Given the description of an element on the screen output the (x, y) to click on. 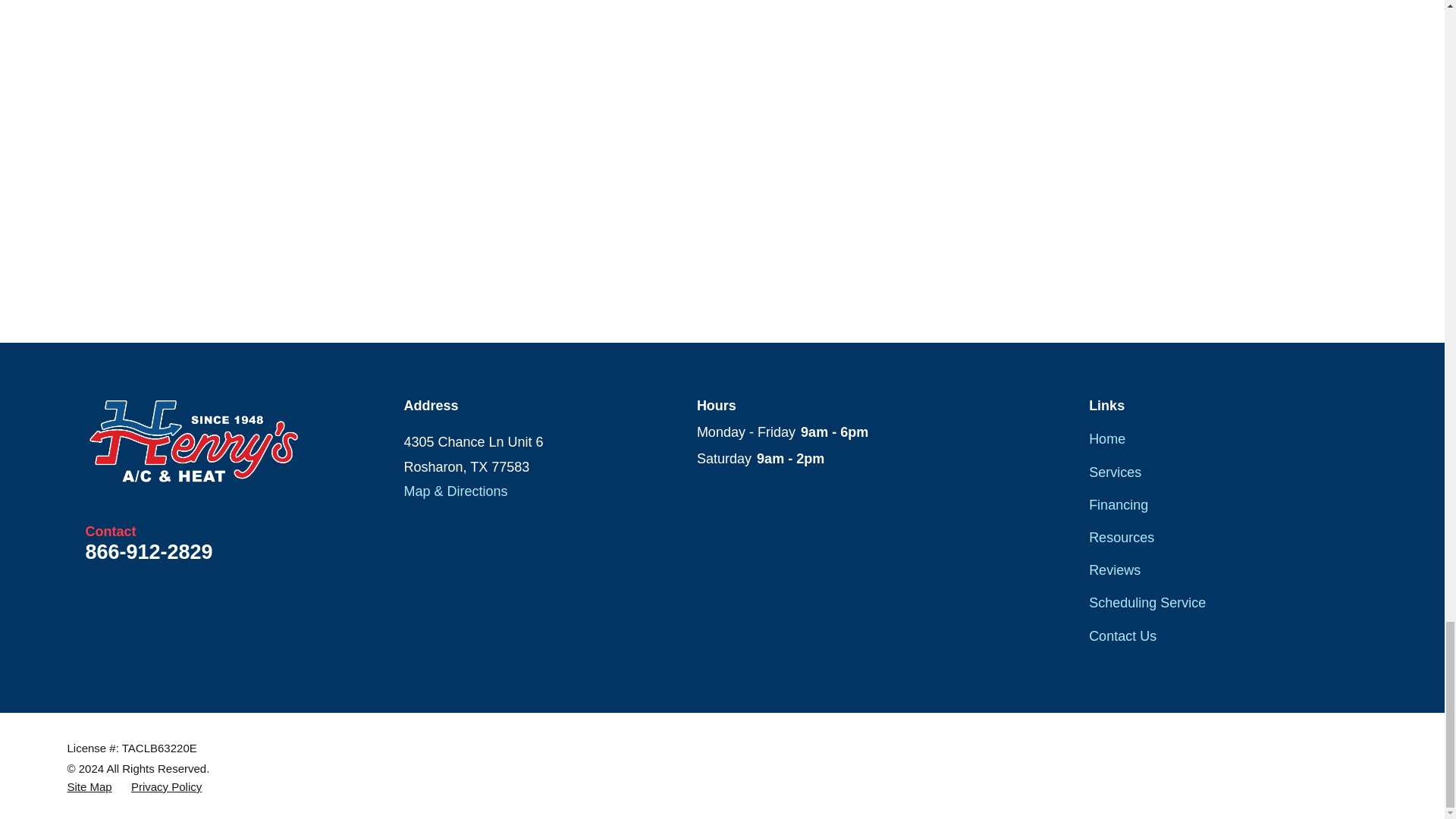
Home (193, 441)
